Given the description of an element on the screen output the (x, y) to click on. 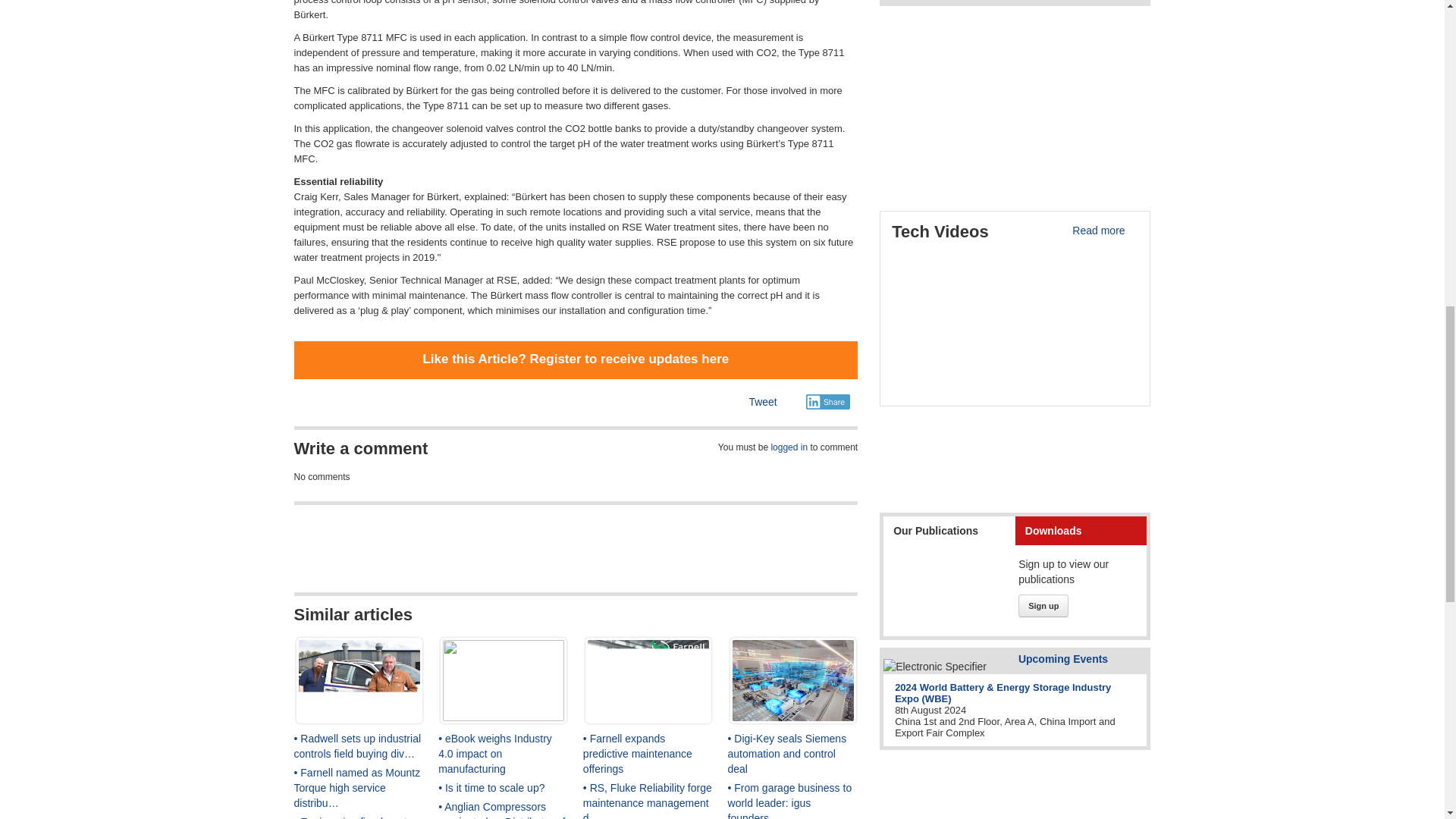
All upcoming events (1062, 657)
Tweet (762, 401)
logged in (789, 446)
Like this Article? Register to receive updates here (575, 359)
Share (828, 401)
